Given the description of an element on the screen output the (x, y) to click on. 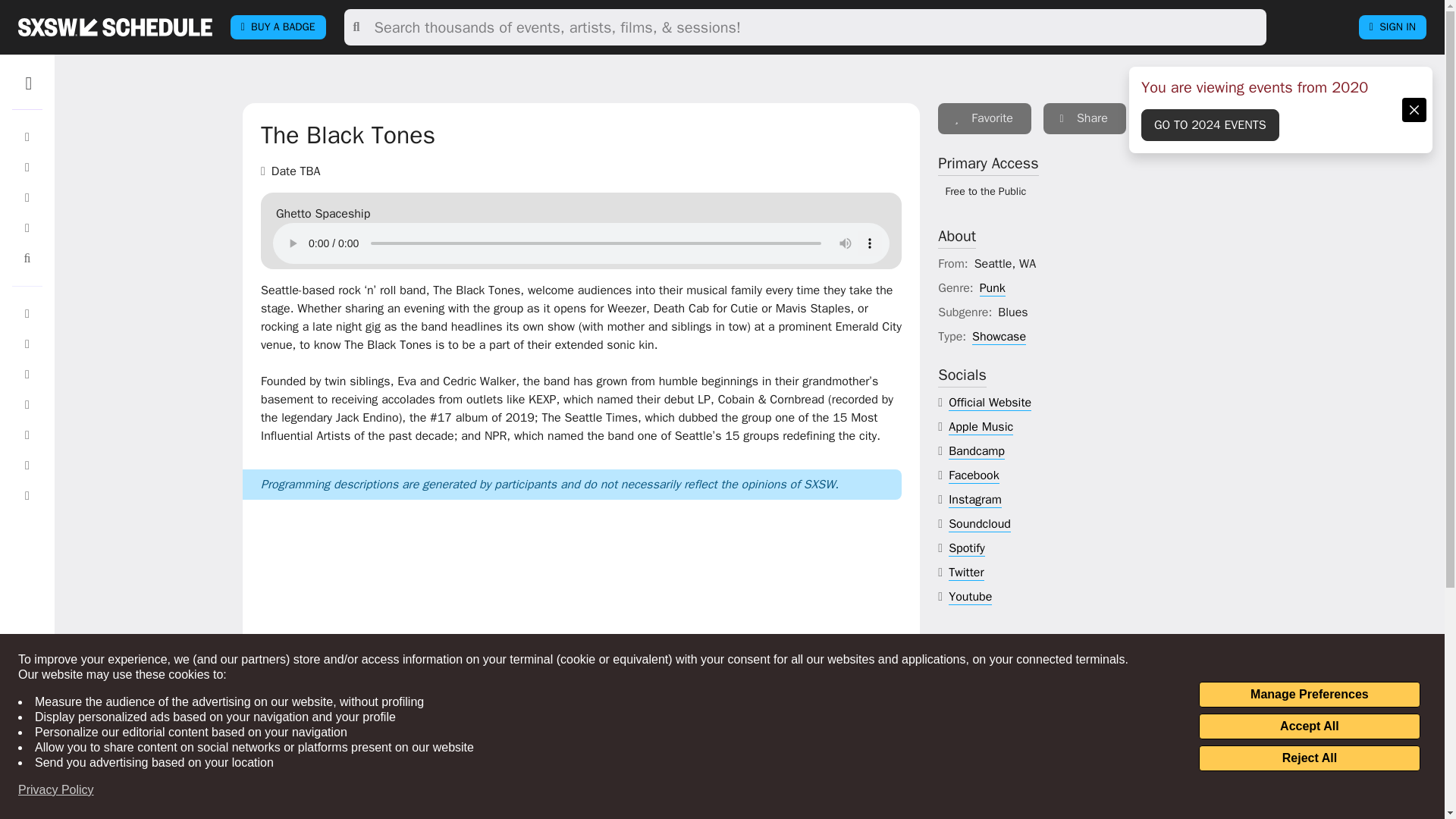
apple (981, 426)
Reject All (1309, 758)
instagram (975, 499)
facebook (973, 475)
bandcamp (976, 451)
Privacy Policy (55, 789)
soundcloud (979, 524)
BUY A BADGE (278, 27)
Accept All (1309, 726)
Manage Preferences (1309, 694)
